Given the description of an element on the screen output the (x, y) to click on. 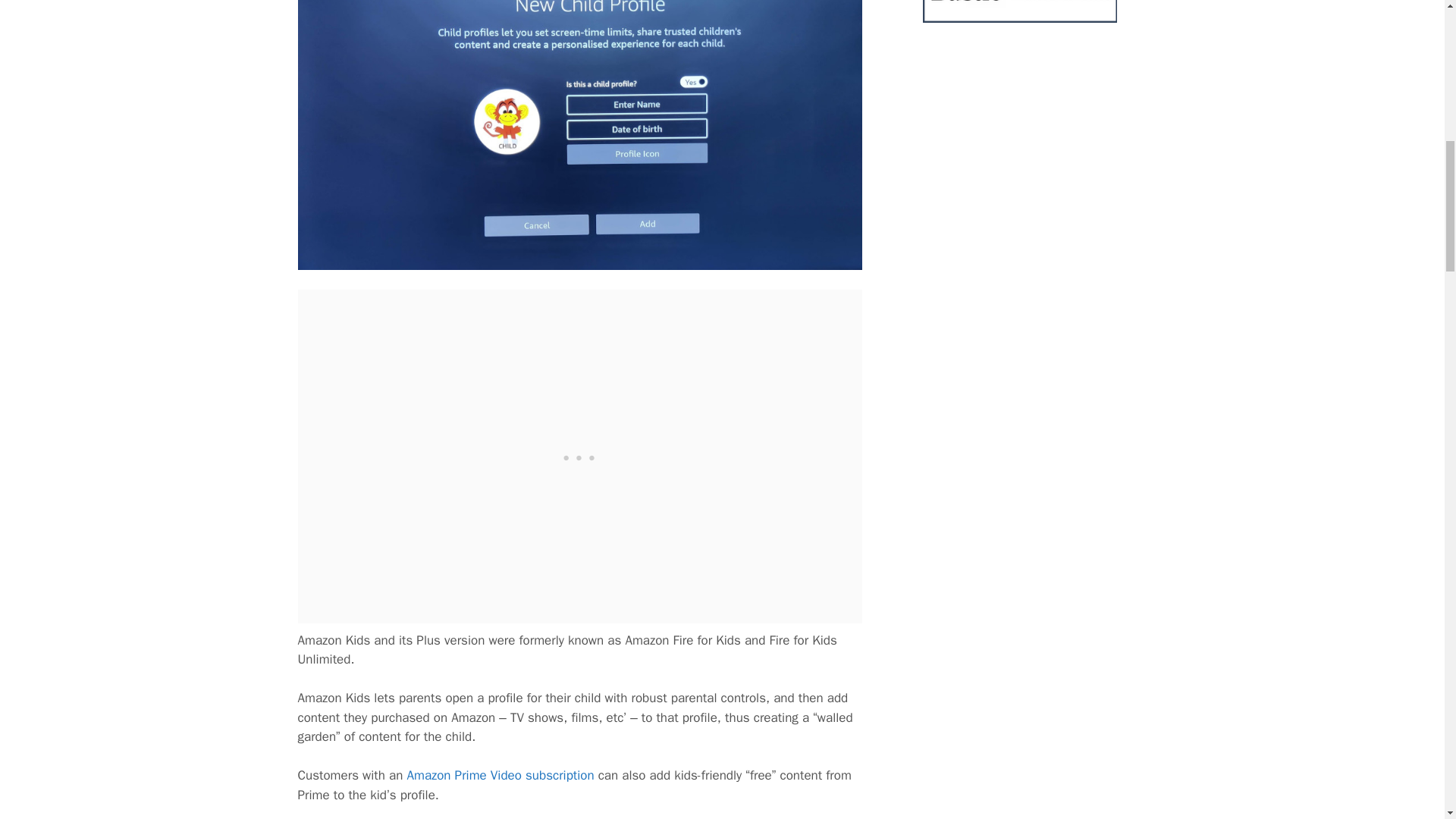
Amazon Prime Video subscription (500, 774)
